Given the description of an element on the screen output the (x, y) to click on. 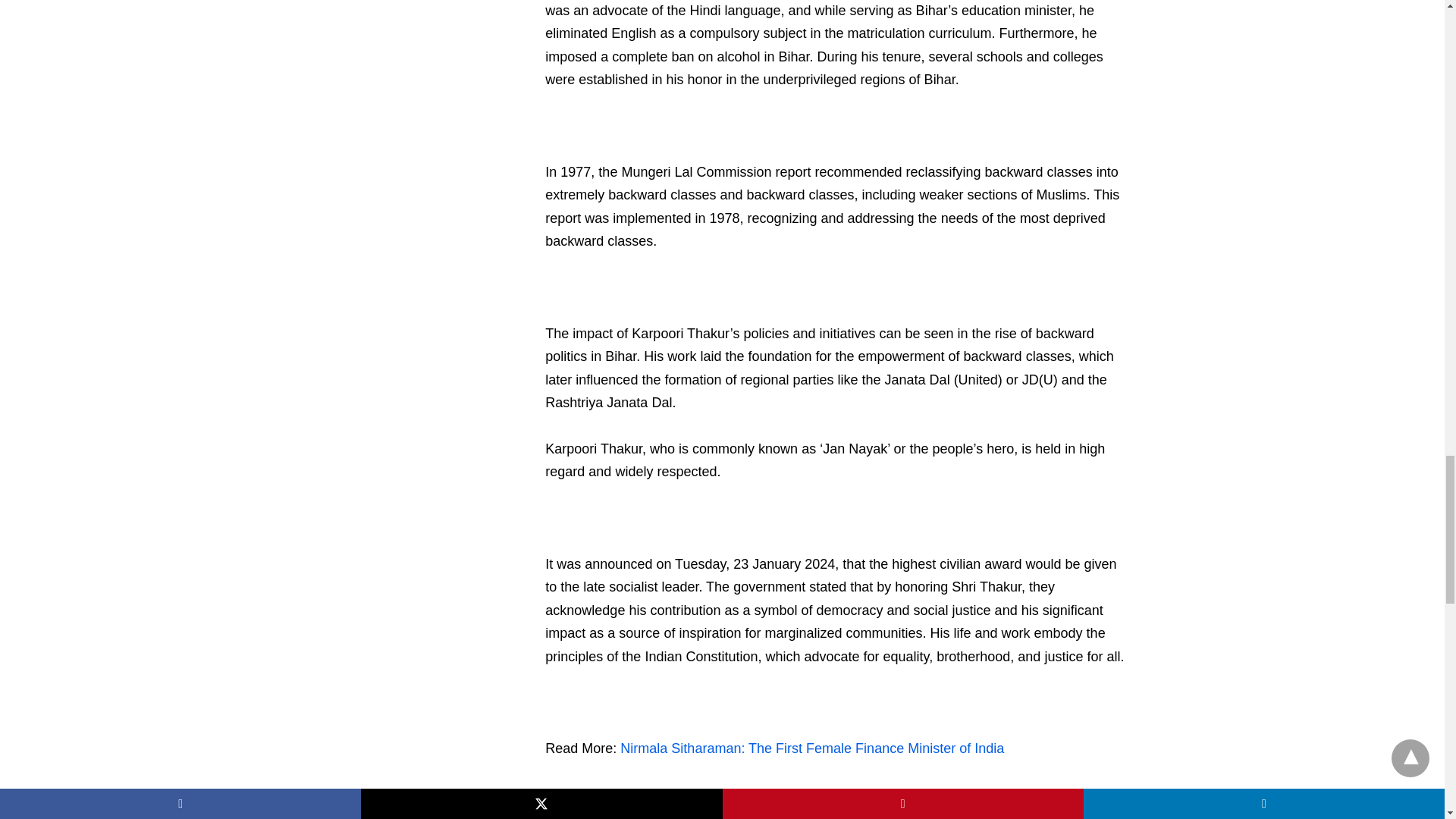
Facebook (556, 802)
Mastodon (581, 802)
Email (605, 802)
